Given the description of an element on the screen output the (x, y) to click on. 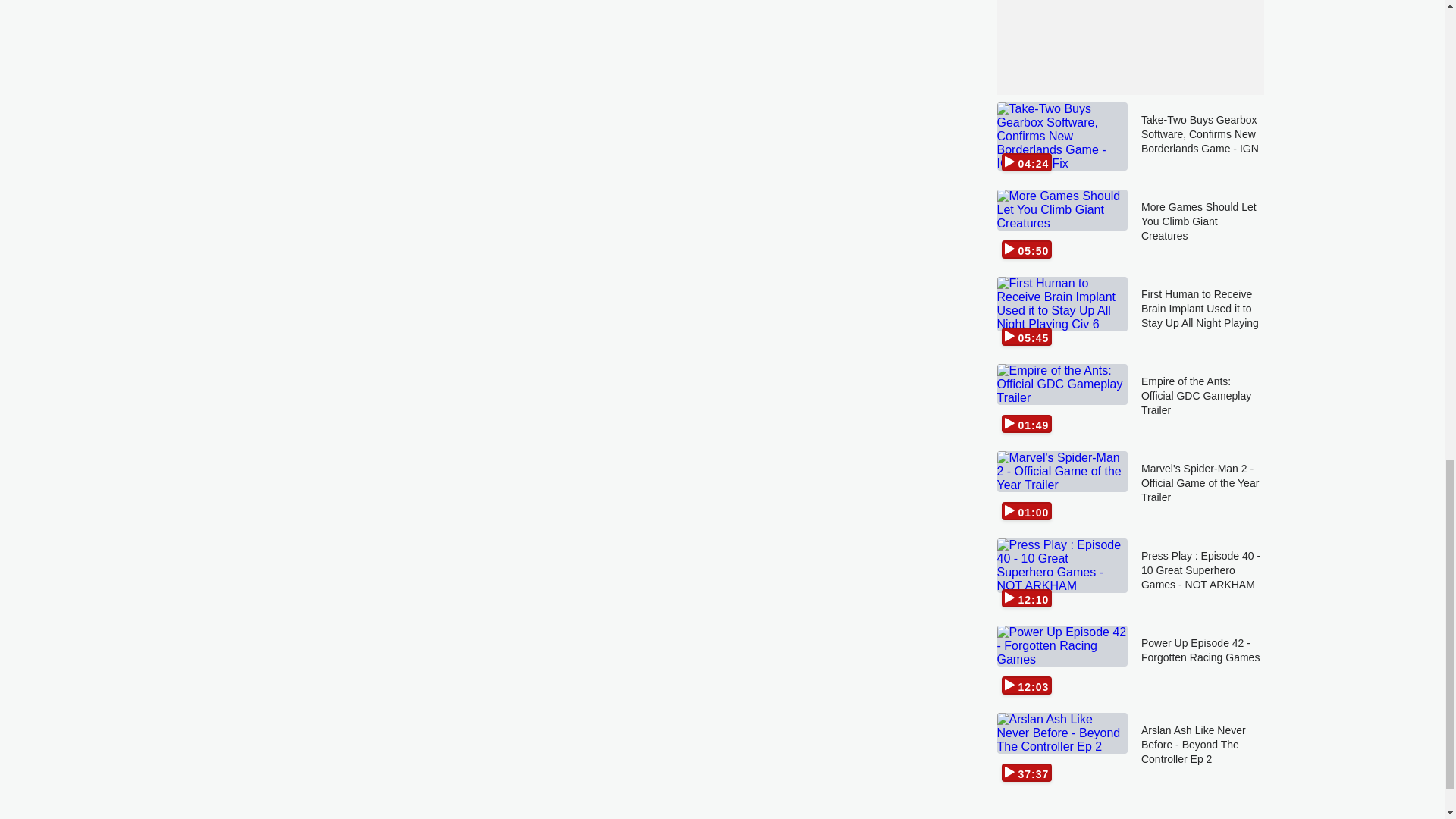
04:24 (1060, 139)
More Games Should Let You Climb Giant Creatures (1202, 225)
05:50 (1060, 225)
